Given the description of an element on the screen output the (x, y) to click on. 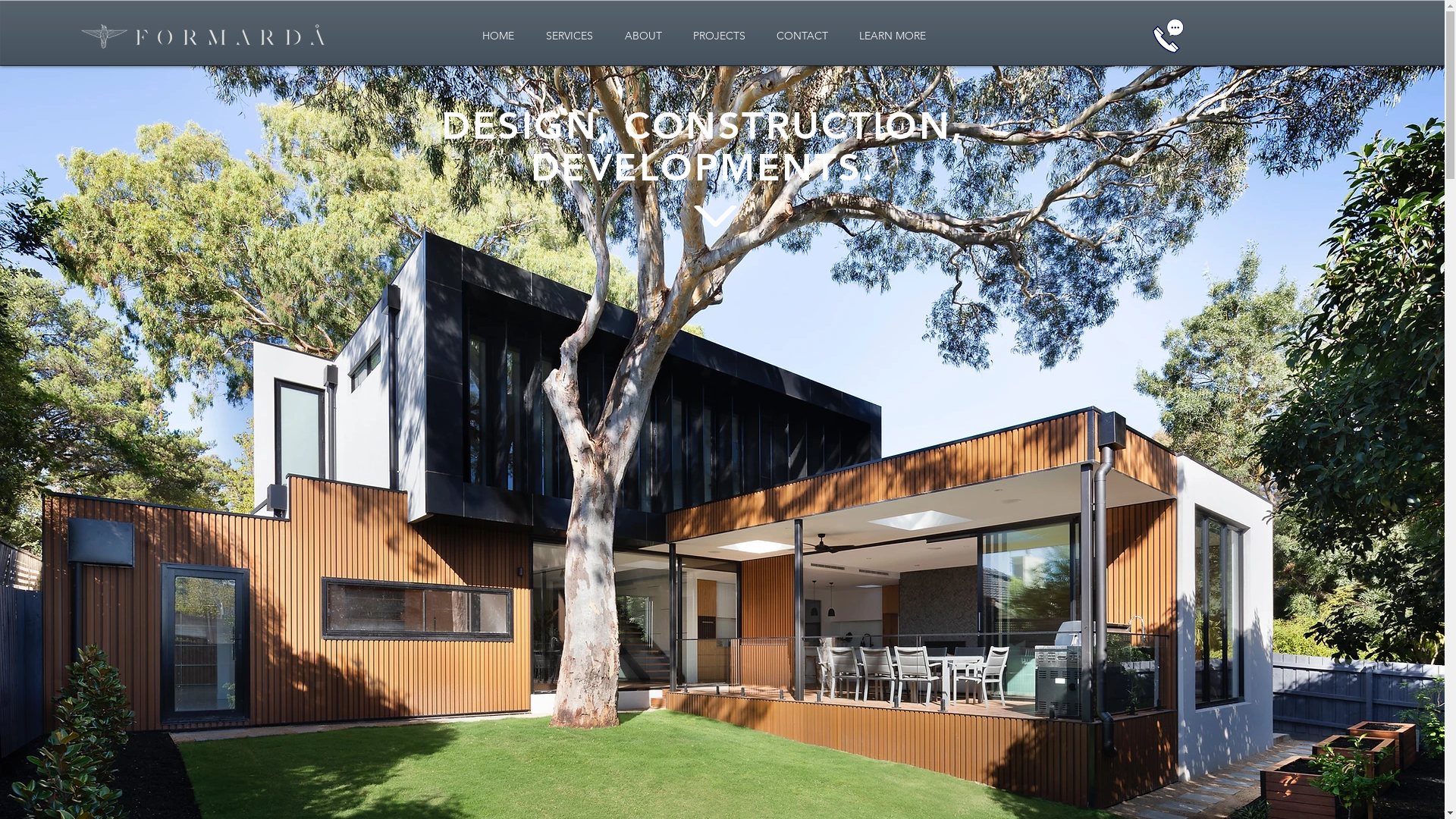
PROJECTS Element type: text (719, 35)
SERVICES Element type: text (568, 35)
LEARN MORE Element type: text (892, 35)
CONTACT Element type: text (802, 35)
HOME Element type: text (497, 35)
ABOUT Element type: text (642, 35)
